Given the description of an element on the screen output the (x, y) to click on. 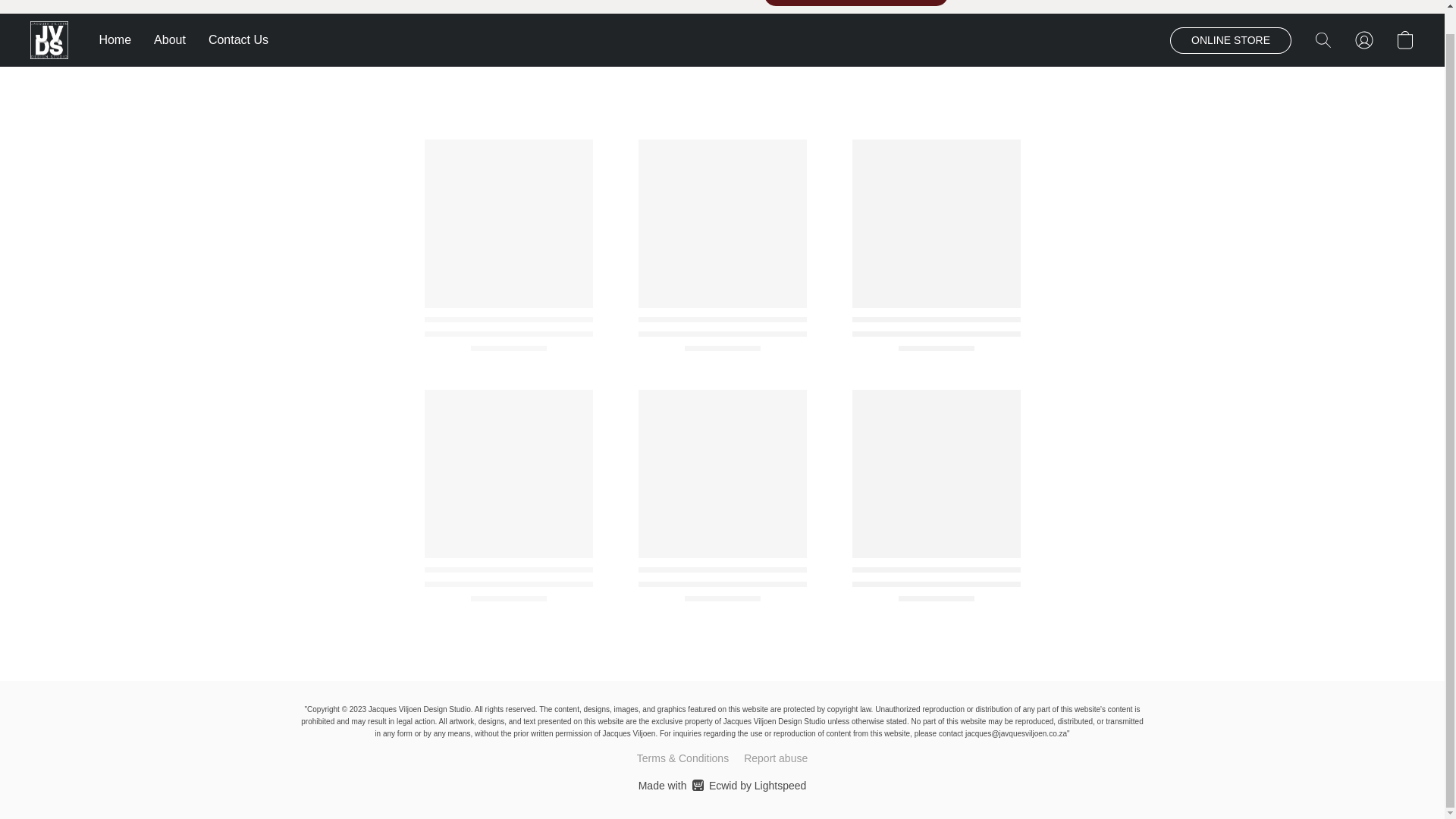
Contact Us (231, 39)
Home (120, 39)
About (169, 39)
ORDER YOUR CANVAS NOW (855, 2)
Search the website (1323, 39)
ONLINE STORE (1230, 40)
Report abuse (776, 758)
Go to your shopping cart (722, 785)
